Given the description of an element on the screen output the (x, y) to click on. 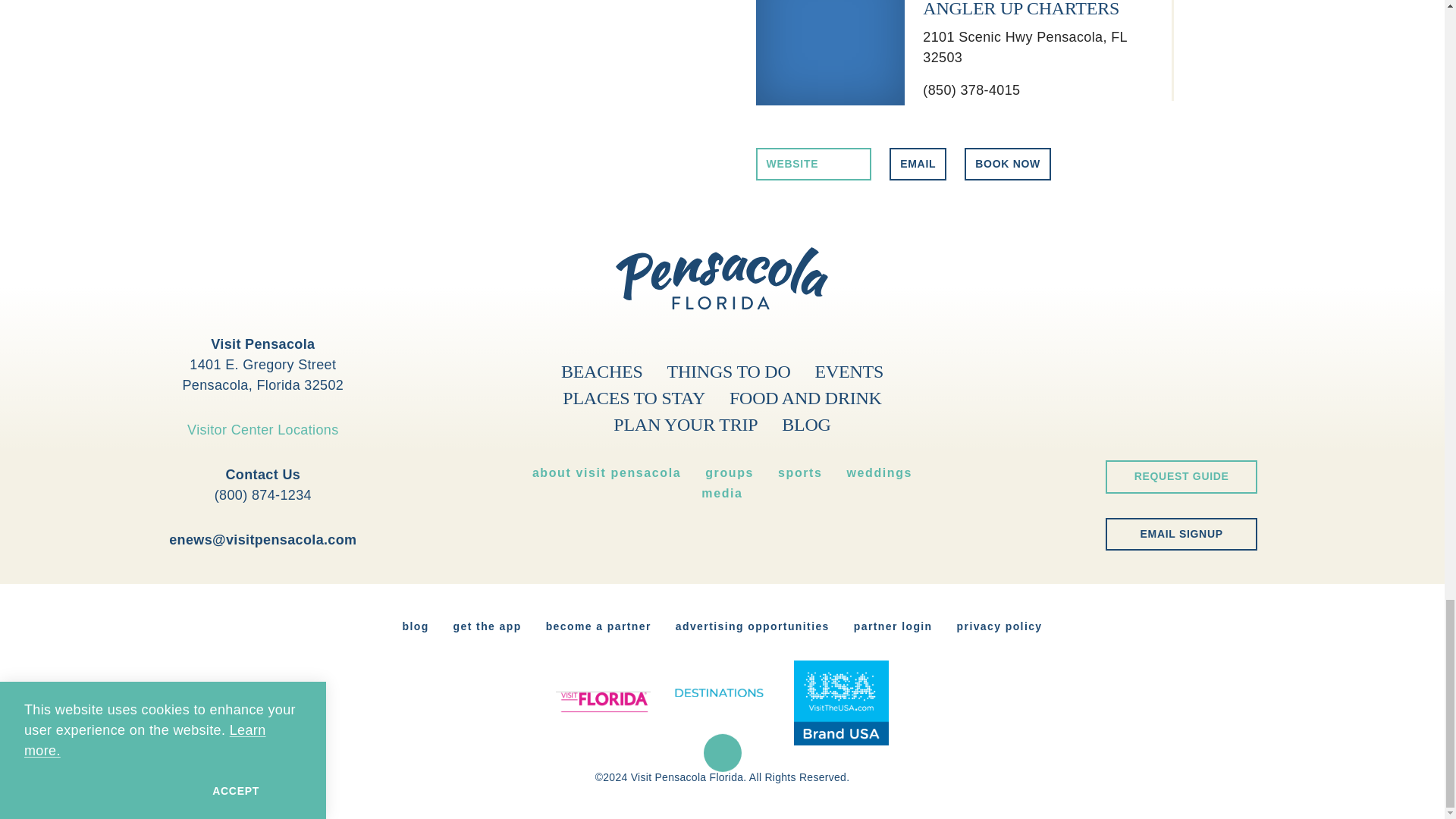
EMAIL (917, 164)
WEBSITE (812, 164)
BEACHES (601, 371)
BOOK NOW (1007, 164)
THINGS TO DO (728, 371)
